Given the description of an element on the screen output the (x, y) to click on. 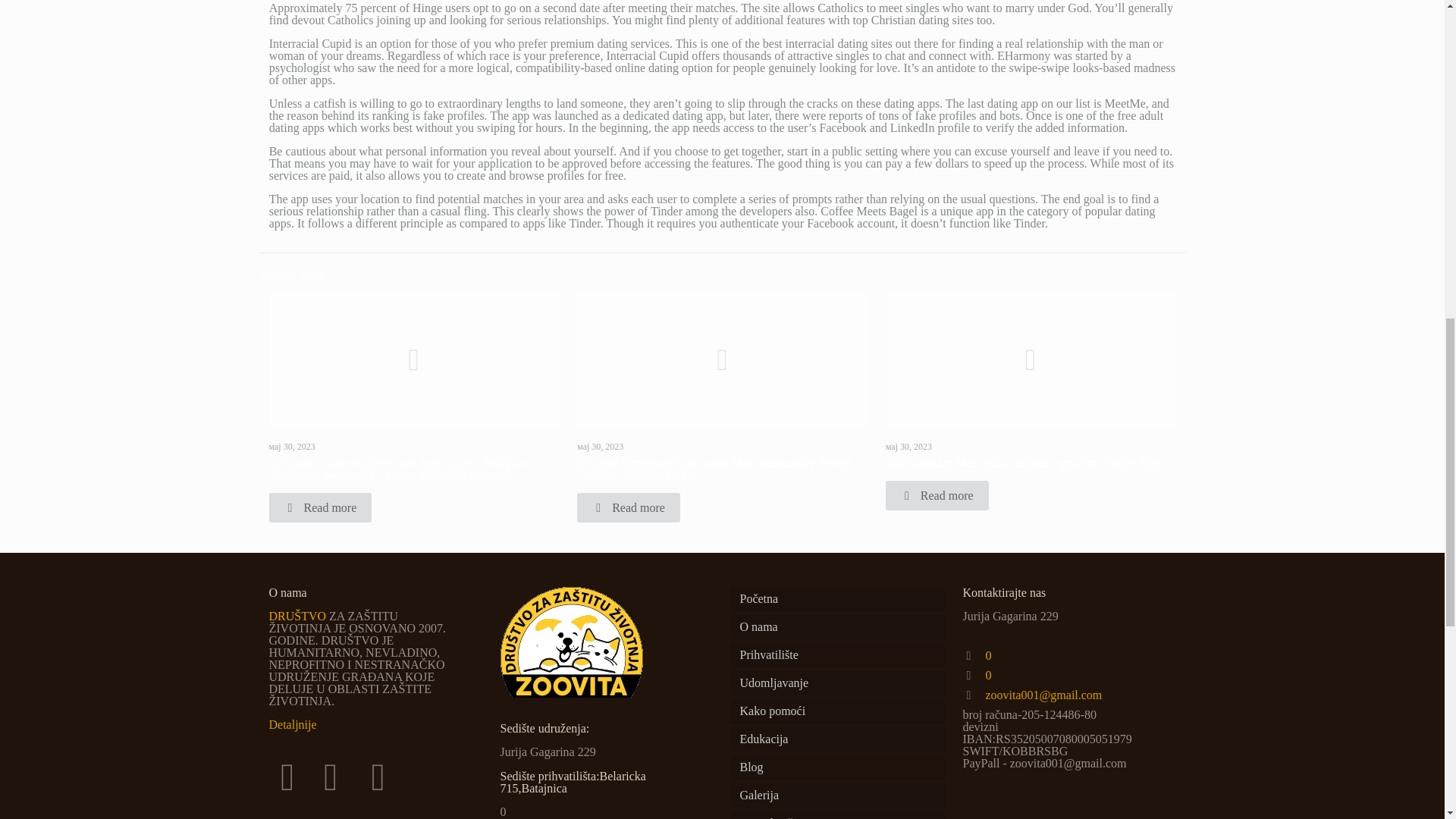
Detaljnije (291, 724)
O nama (836, 627)
Blk Courting: Meet Black Singles Apps On Google Play (1022, 462)
Read more (319, 507)
Read more (936, 495)
Read more (627, 507)
